Given the description of an element on the screen output the (x, y) to click on. 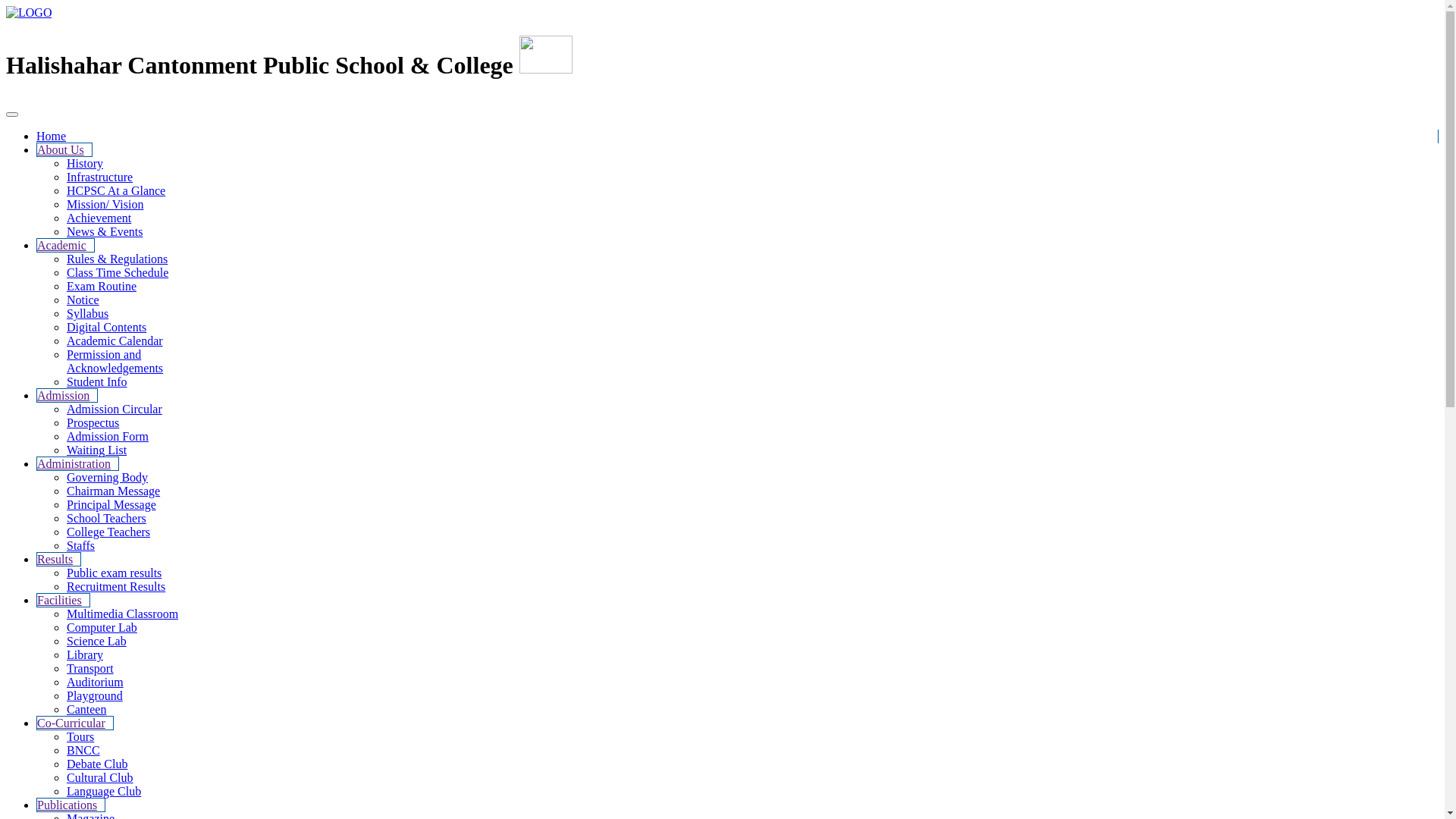
Library Element type: text (84, 654)
Principal Message Element type: text (111, 504)
About Us Element type: text (64, 149)
Administration Element type: text (77, 463)
HCPSC At a Glance Element type: text (115, 190)
Admission Element type: text (66, 395)
Results Element type: text (58, 559)
College Teachers Element type: text (108, 531)
Language Club Element type: text (103, 790)
Academic Calendar Element type: text (114, 340)
School Teachers Element type: text (106, 517)
Computer Lab Element type: text (101, 627)
Co-Curricular Element type: text (74, 722)
Admission Circular Element type: text (114, 408)
Transport Element type: text (89, 668)
Debate Club Element type: text (96, 763)
Home Element type: text (50, 135)
History Element type: text (84, 162)
Digital Contents Element type: text (106, 326)
Class Time Schedule Element type: text (117, 272)
Multimedia Classroom Element type: text (122, 613)
BNCC Element type: text (83, 749)
Waiting List Element type: text (96, 449)
Tours Element type: text (80, 736)
Governing Body Element type: text (106, 476)
Staffs Element type: text (80, 545)
Cultural Club Element type: text (99, 777)
Publications Element type: text (70, 804)
Public exam results Element type: text (113, 572)
Online Admission  Element type: text (1392, 108)
Infrastructure Element type: text (99, 176)
Mission/ Vision Element type: text (104, 203)
Auditorium Element type: text (94, 681)
News & Events Element type: text (104, 231)
Admission Form Element type: text (107, 435)
Science Lab Element type: text (96, 640)
Prospectus Element type: text (92, 422)
Exam Routine Element type: text (101, 285)
Achievement Element type: text (98, 217)
Playground Element type: text (94, 695)
Facilities Element type: text (63, 600)
Academic Element type: text (65, 245)
Canteen Element type: text (86, 708)
Rules & Regulations Element type: text (116, 258)
Recruitment Results Element type: text (115, 586)
Notice Element type: text (82, 299)
Permission and
Acknowledgements Element type: text (114, 361)
Syllabus Element type: text (87, 313)
Student Info Element type: text (96, 381)
Chairman Message Element type: text (113, 490)
